Given the description of an element on the screen output the (x, y) to click on. 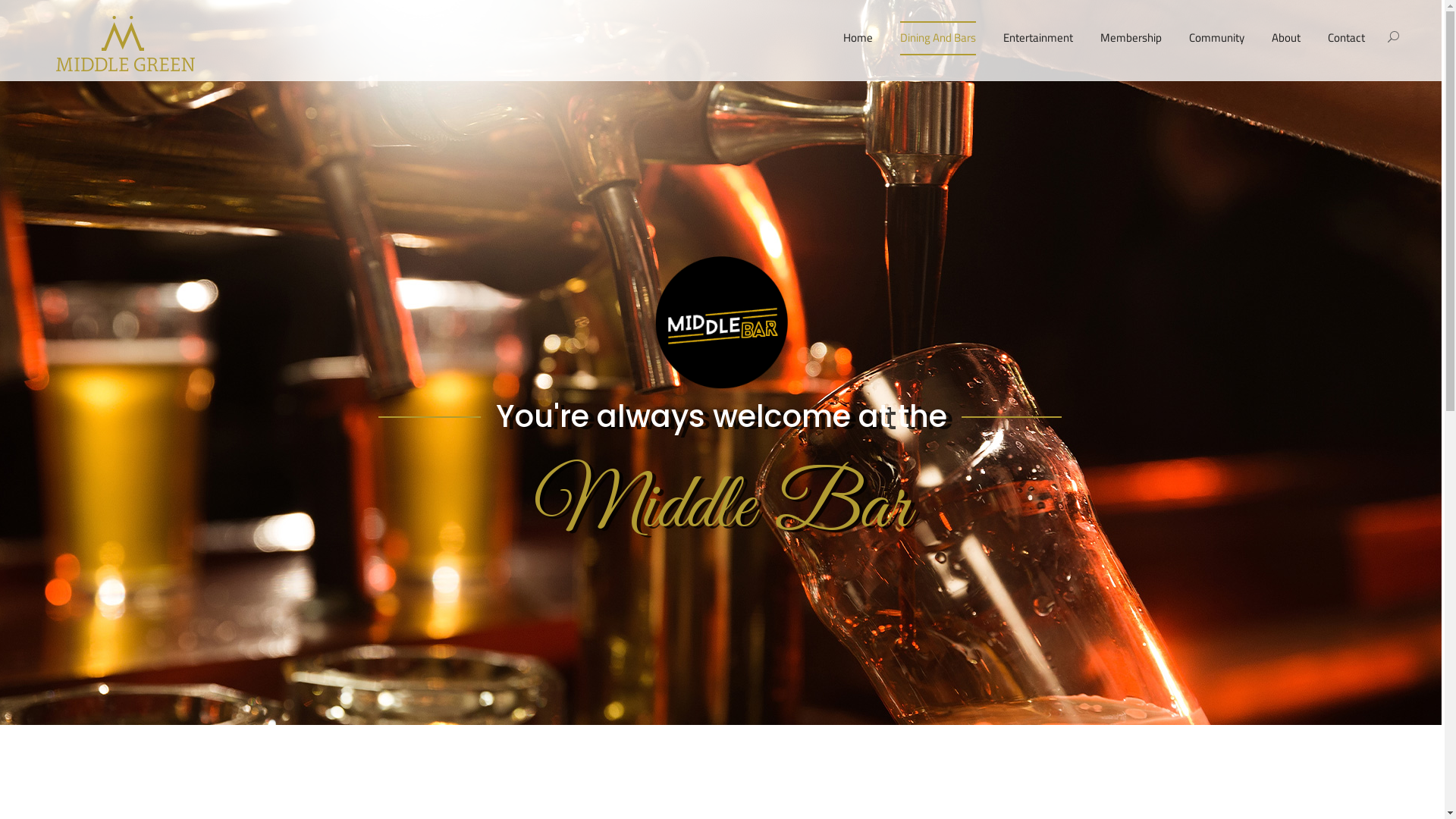
Community Element type: text (1216, 37)
Contact Element type: text (1346, 37)
Dining And Bars Element type: text (937, 37)
Entertainment Element type: text (1038, 37)
Home Element type: text (857, 37)
About Element type: text (1285, 37)
Membership Element type: text (1130, 37)
